Given the description of an element on the screen output the (x, y) to click on. 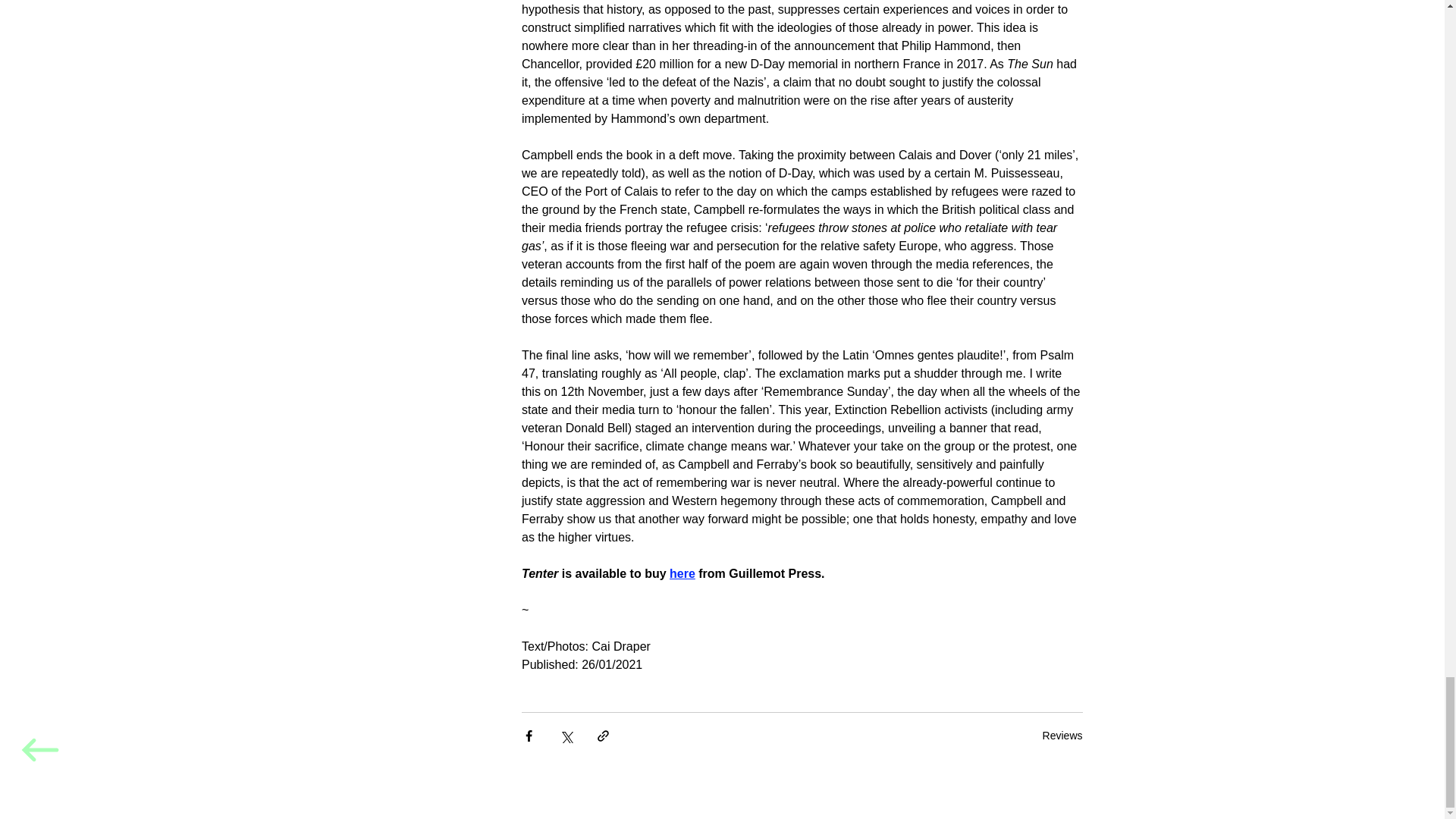
here (682, 573)
Reviews (1062, 734)
